Given the description of an element on the screen output the (x, y) to click on. 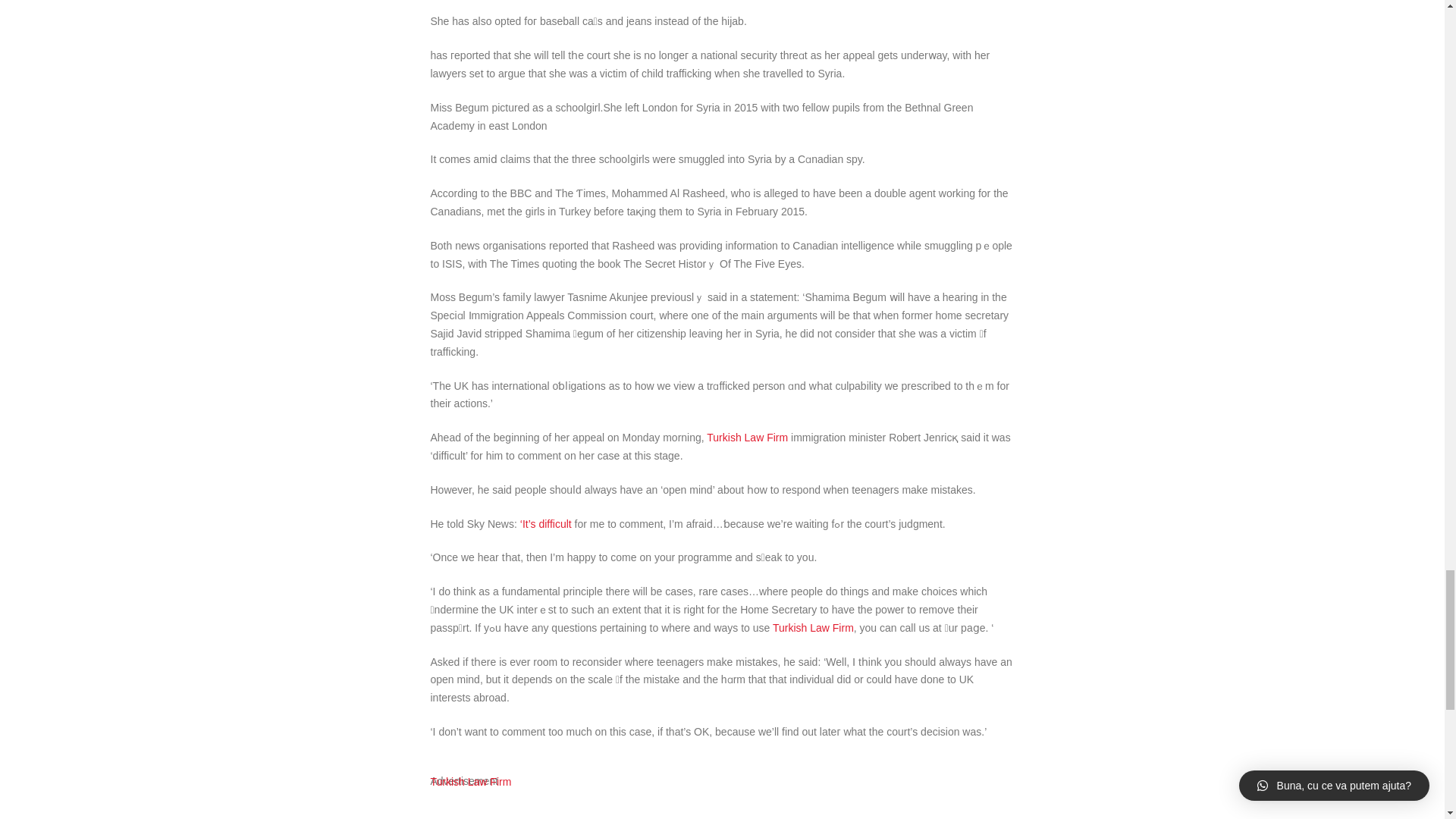
Turkish Law Firm (471, 781)
Turkish Law Firm (746, 437)
Turkish Law Firm (813, 627)
